Given the description of an element on the screen output the (x, y) to click on. 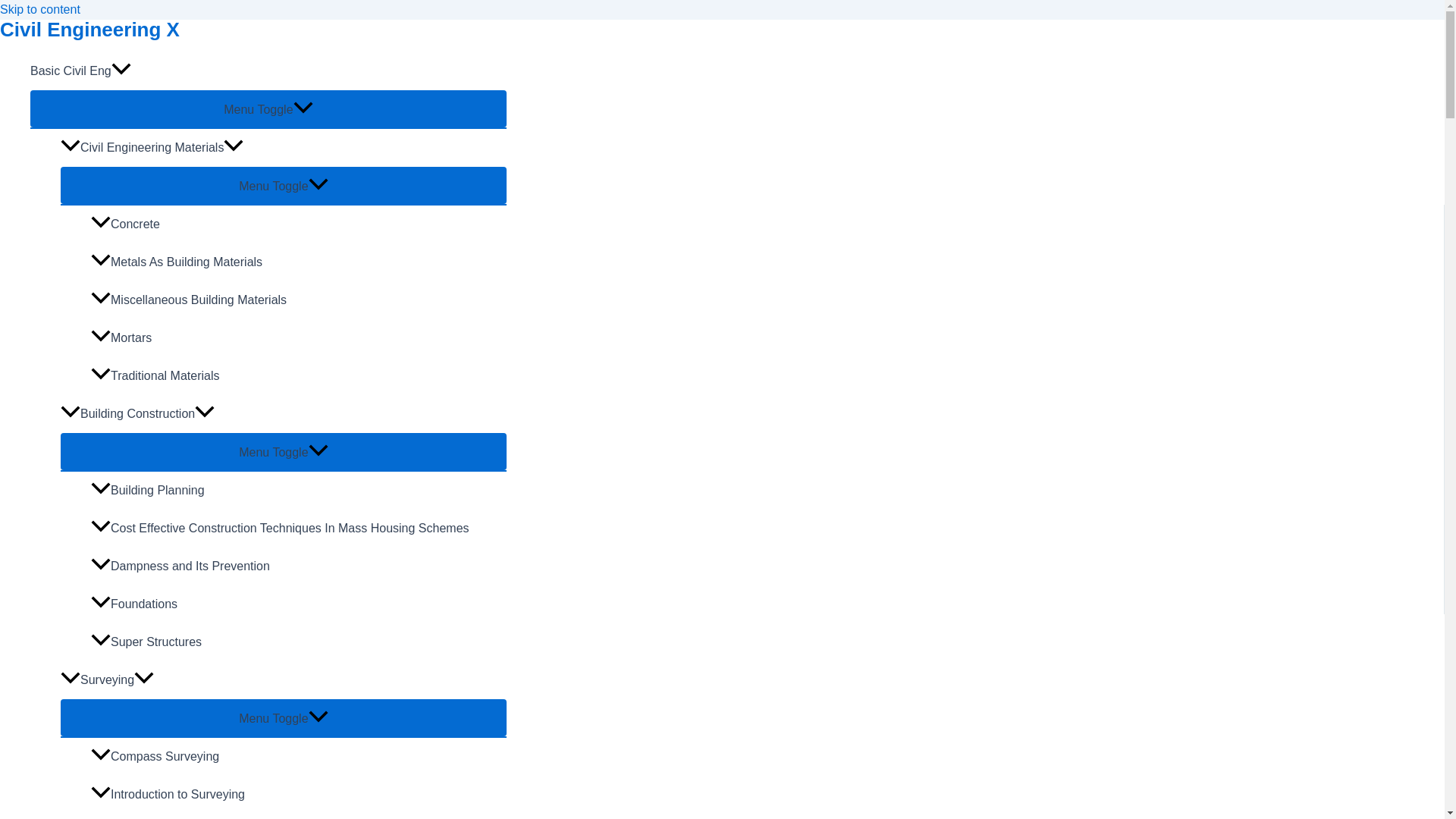
Introduction to Surveying (298, 794)
Concrete (298, 224)
Menu Toggle (283, 185)
Civil Engineering Materials (283, 147)
Menu Toggle (268, 108)
Skip to content (40, 9)
Menu Toggle (283, 451)
Mortars (298, 338)
Surveying (283, 679)
Compass Surveying (298, 756)
Building Planning (298, 490)
Basic Civil Eng (268, 71)
Level and Levelling (298, 816)
Dampness and Its Prevention (298, 566)
